Given the description of an element on the screen output the (x, y) to click on. 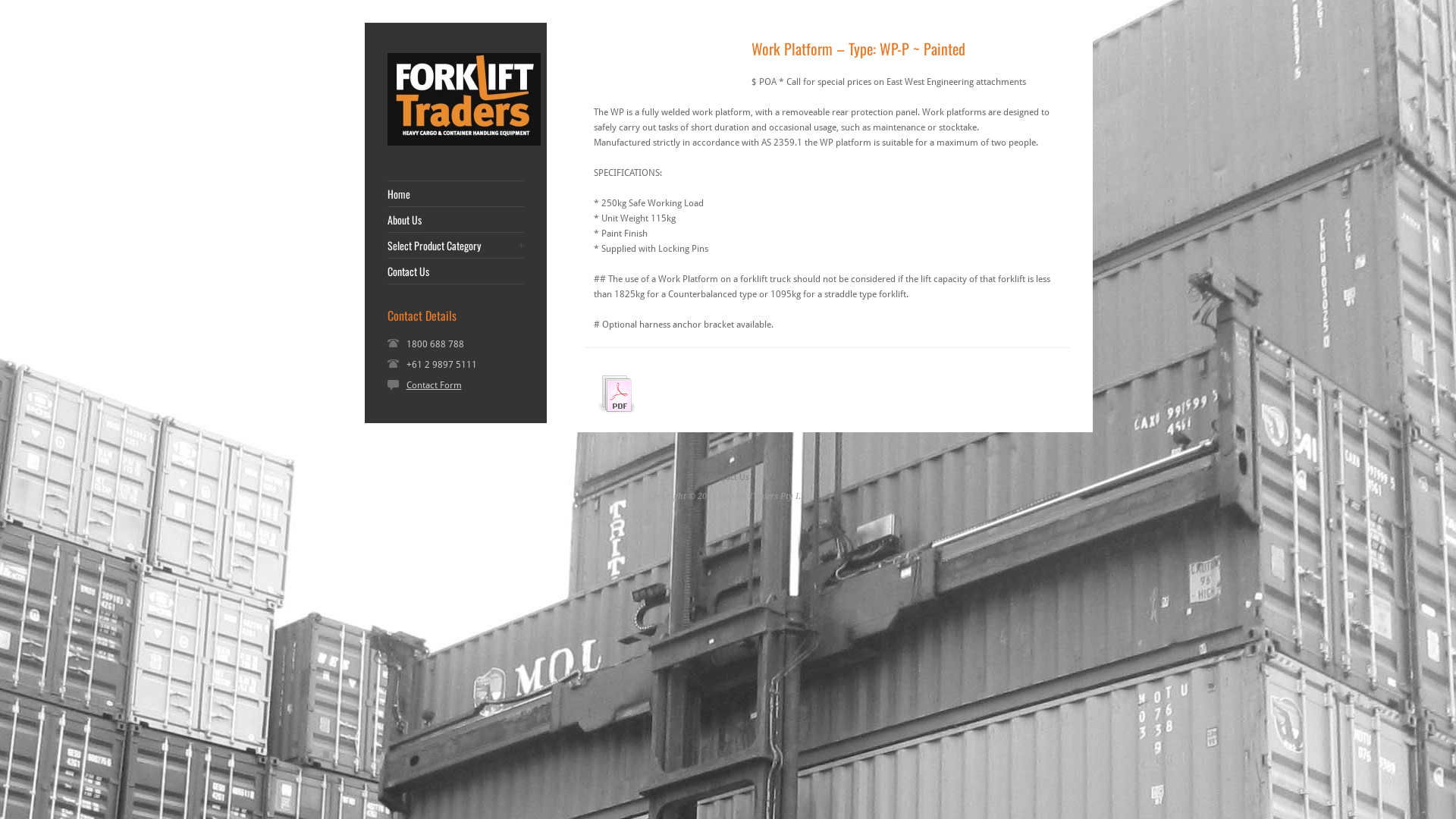
Select Product Category Element type: text (454, 245)
Download PDF File Element type: hover (616, 416)
Contact Form Element type: text (441, 384)
Forklift Traders Pty Ltd Element type: hover (462, 142)
About Us Element type: text (454, 219)
Contact Us Element type: text (454, 271)
Contact Us Element type: text (728, 477)
Home Element type: text (454, 193)
